Given the description of an element on the screen output the (x, y) to click on. 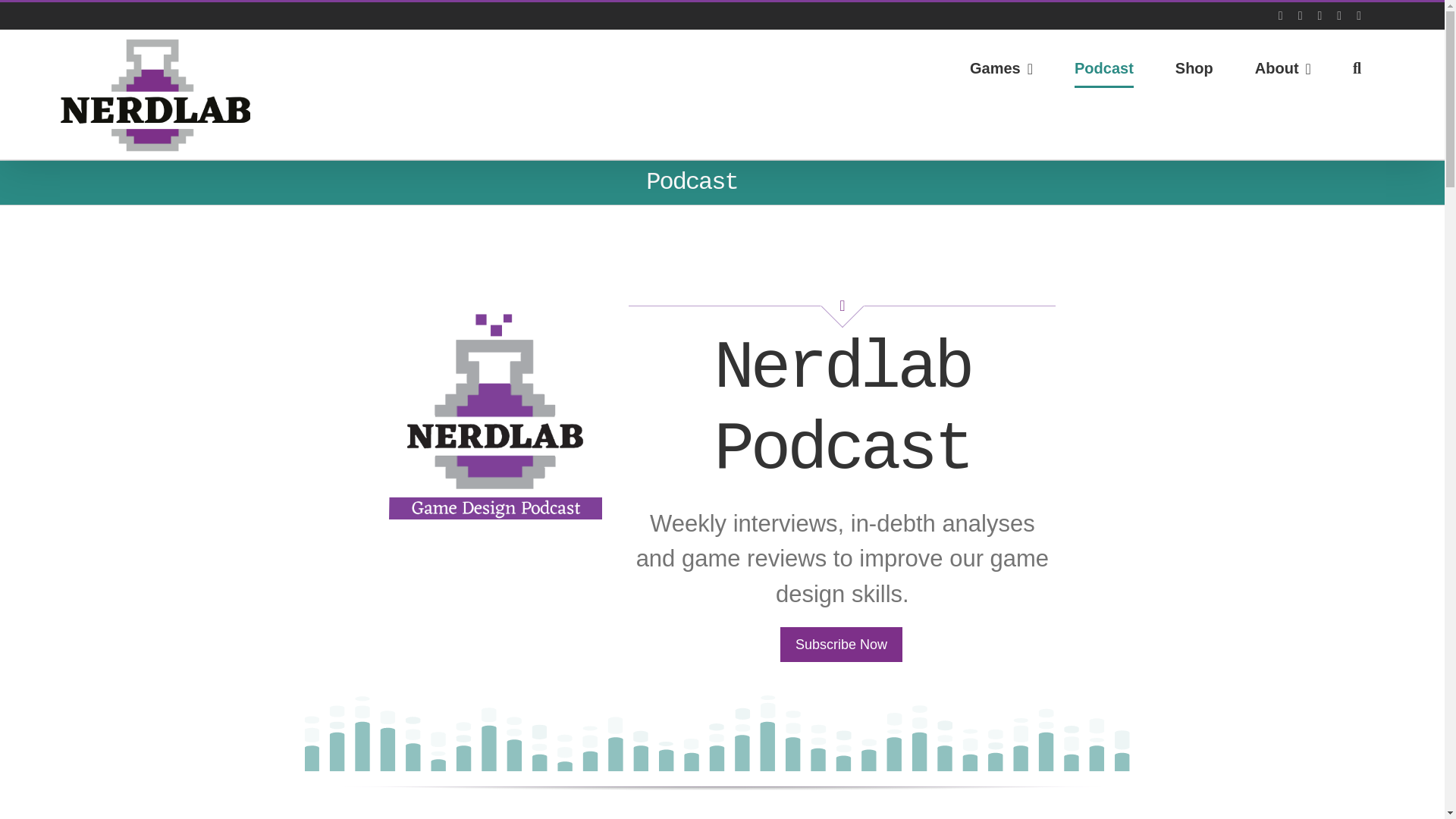
Nerdlab Podcast Logo (495, 412)
Subscribe Now (841, 644)
